Given the description of an element on the screen output the (x, y) to click on. 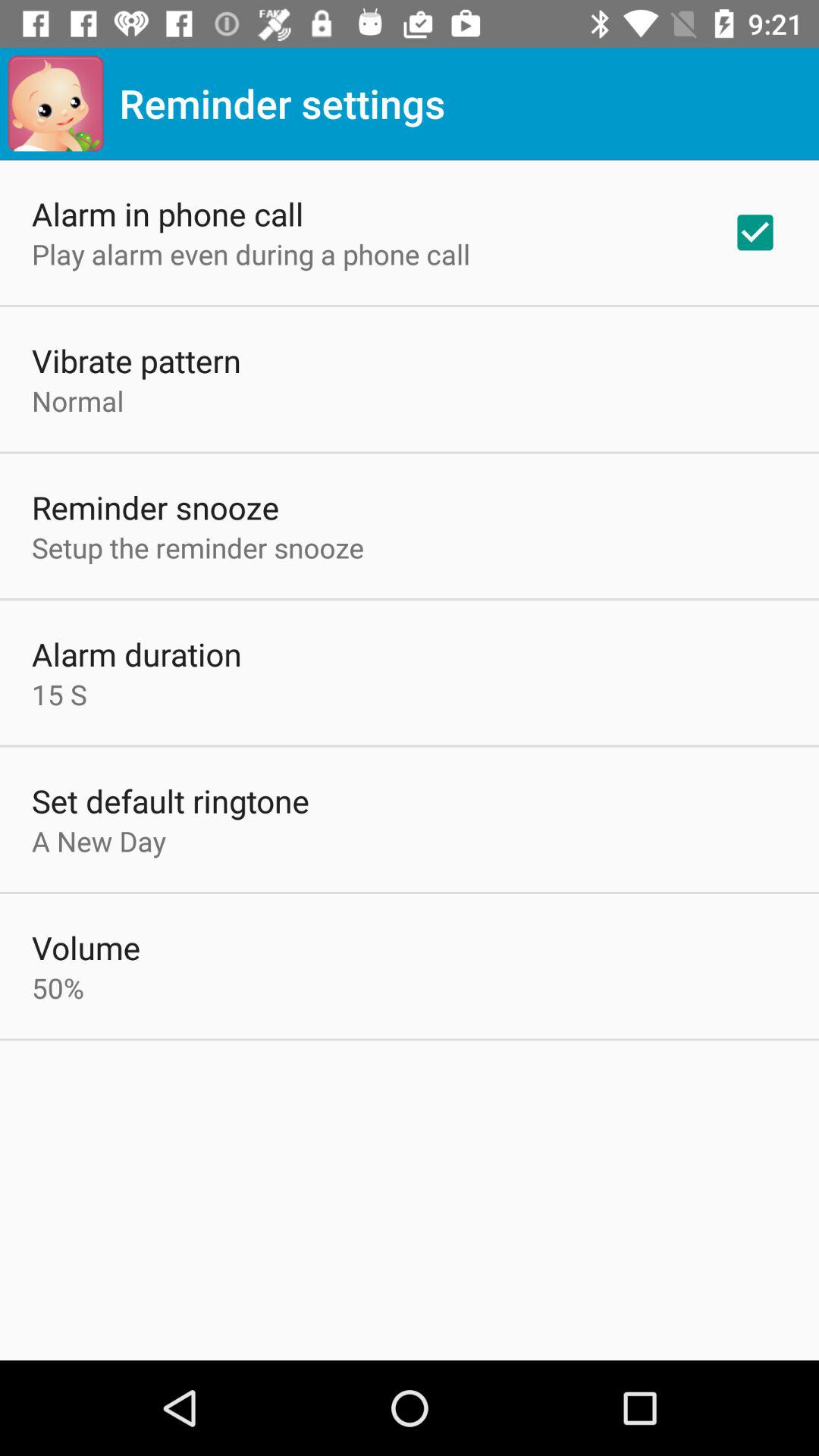
turn on setup the reminder item (197, 547)
